Given the description of an element on the screen output the (x, y) to click on. 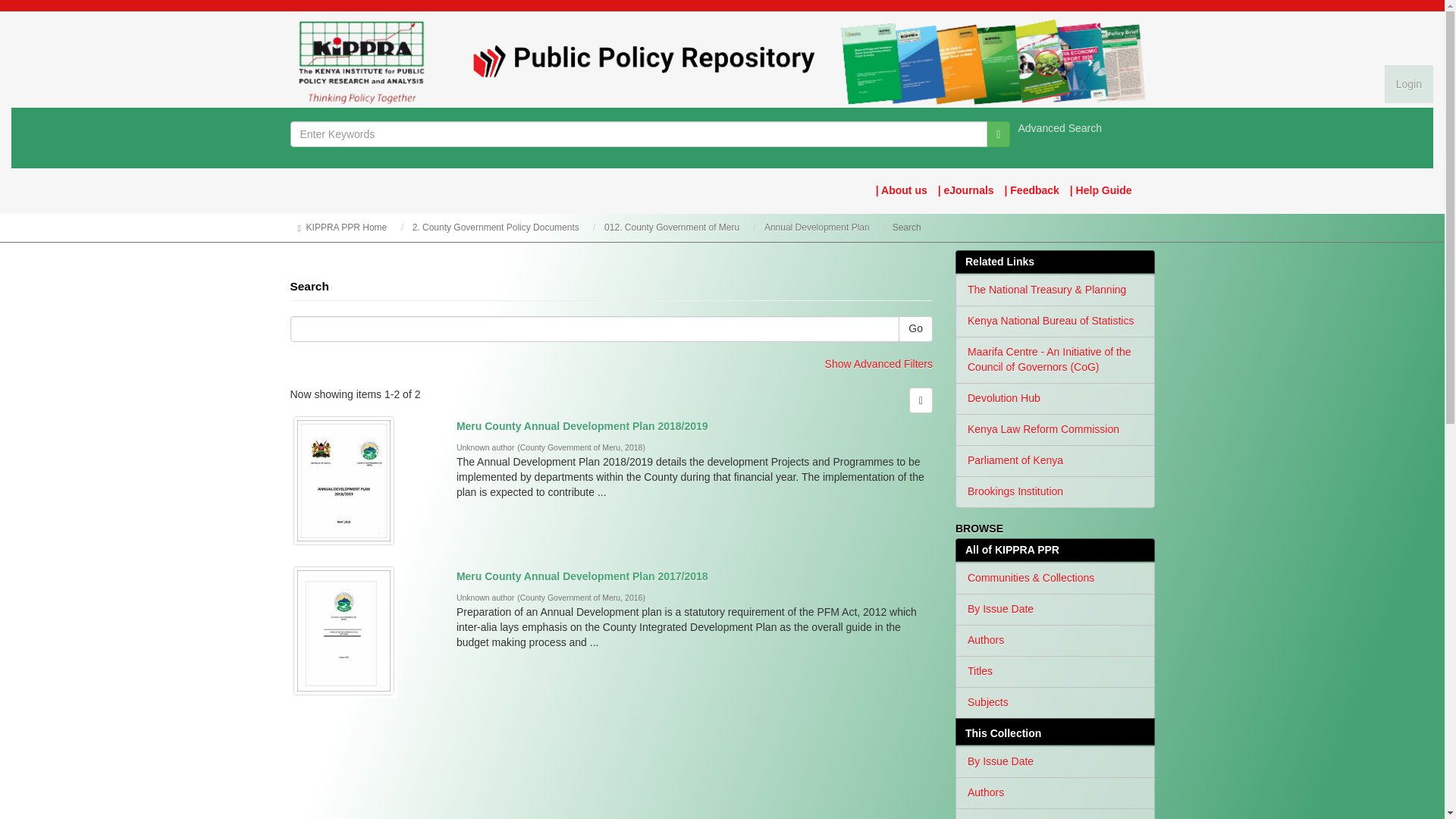
Show Advanced Filters (879, 363)
Annual Development Plan (816, 226)
Go (998, 134)
Advanced Search (1059, 128)
Go (915, 329)
Login (1408, 84)
012. County Government of Meru (671, 226)
2. County Government Policy Documents (495, 226)
KIPPRA PPR Home (346, 226)
